Given the description of an element on the screen output the (x, y) to click on. 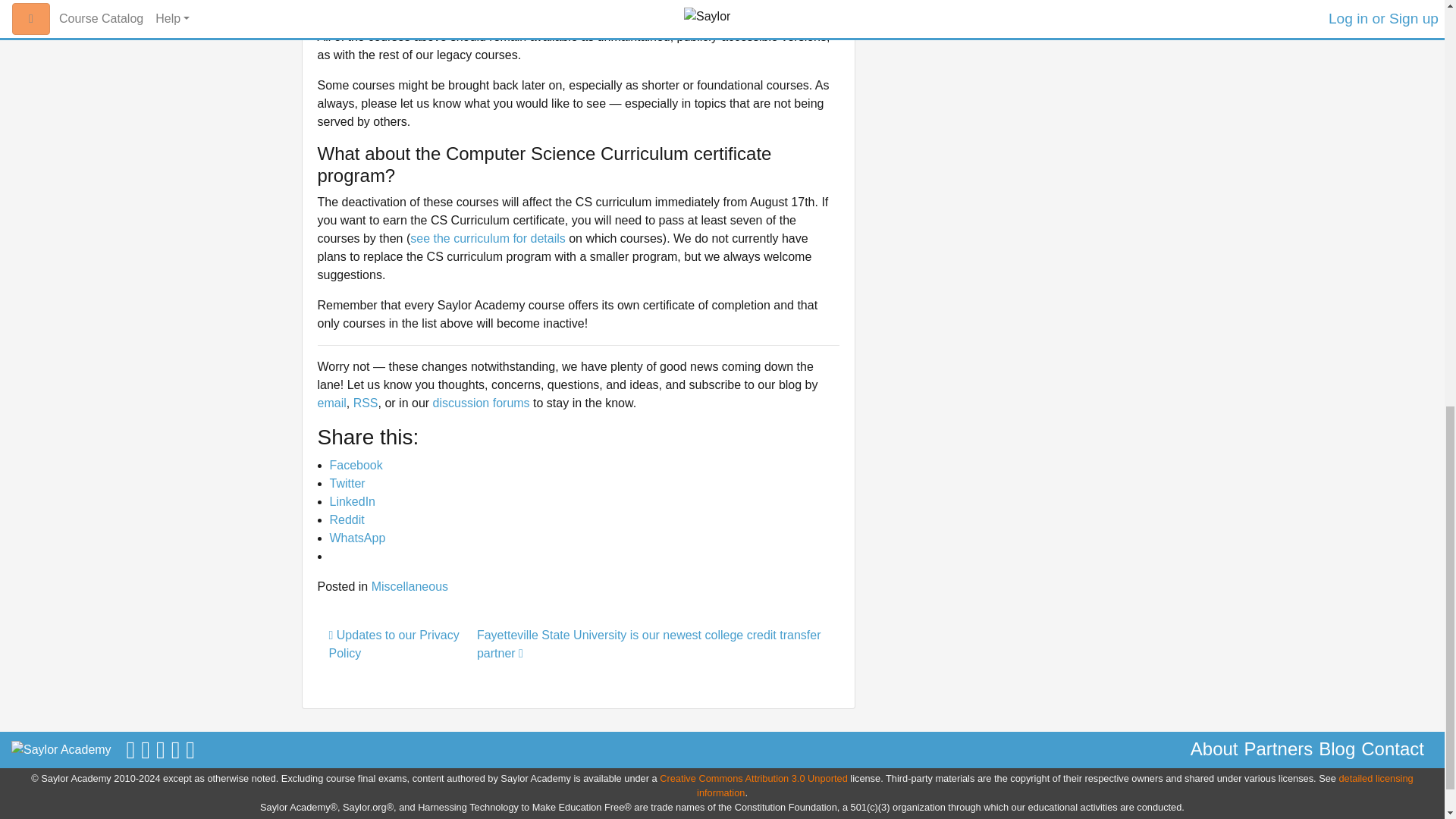
Miscellaneous (409, 585)
discussion forums (480, 402)
Twitter (347, 482)
Click to share on WhatsApp (357, 537)
Saylor Academy (61, 750)
email (331, 402)
RSS (365, 402)
see the curriculum for details (488, 237)
Blog (1337, 749)
Click to share on Reddit (346, 519)
Click to share on Twitter (347, 482)
WhatsApp (357, 537)
Click to share on Facebook (355, 464)
Click to share on LinkedIn (352, 501)
